Given the description of an element on the screen output the (x, y) to click on. 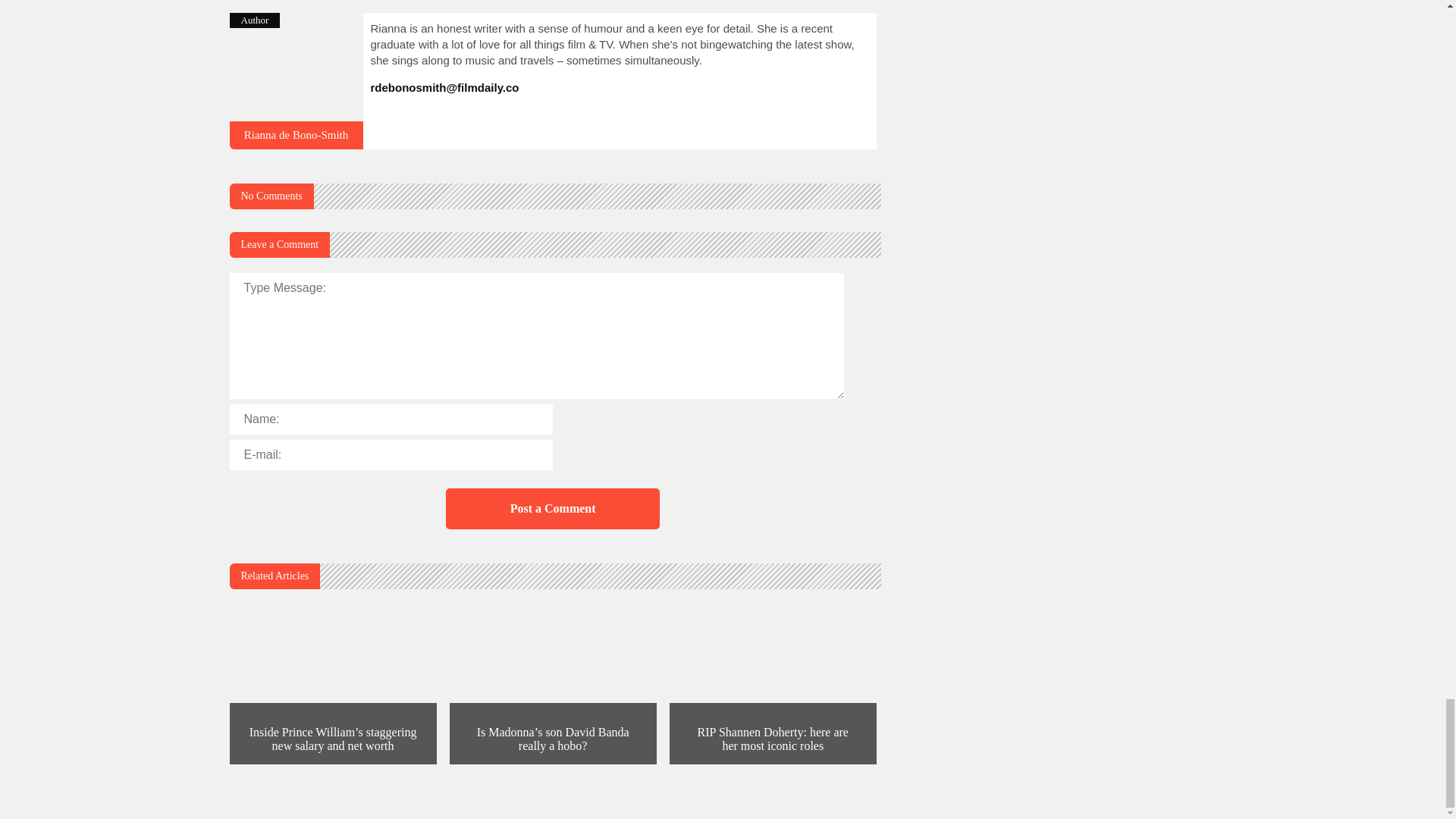
Post a Comment (552, 508)
